Given the description of an element on the screen output the (x, y) to click on. 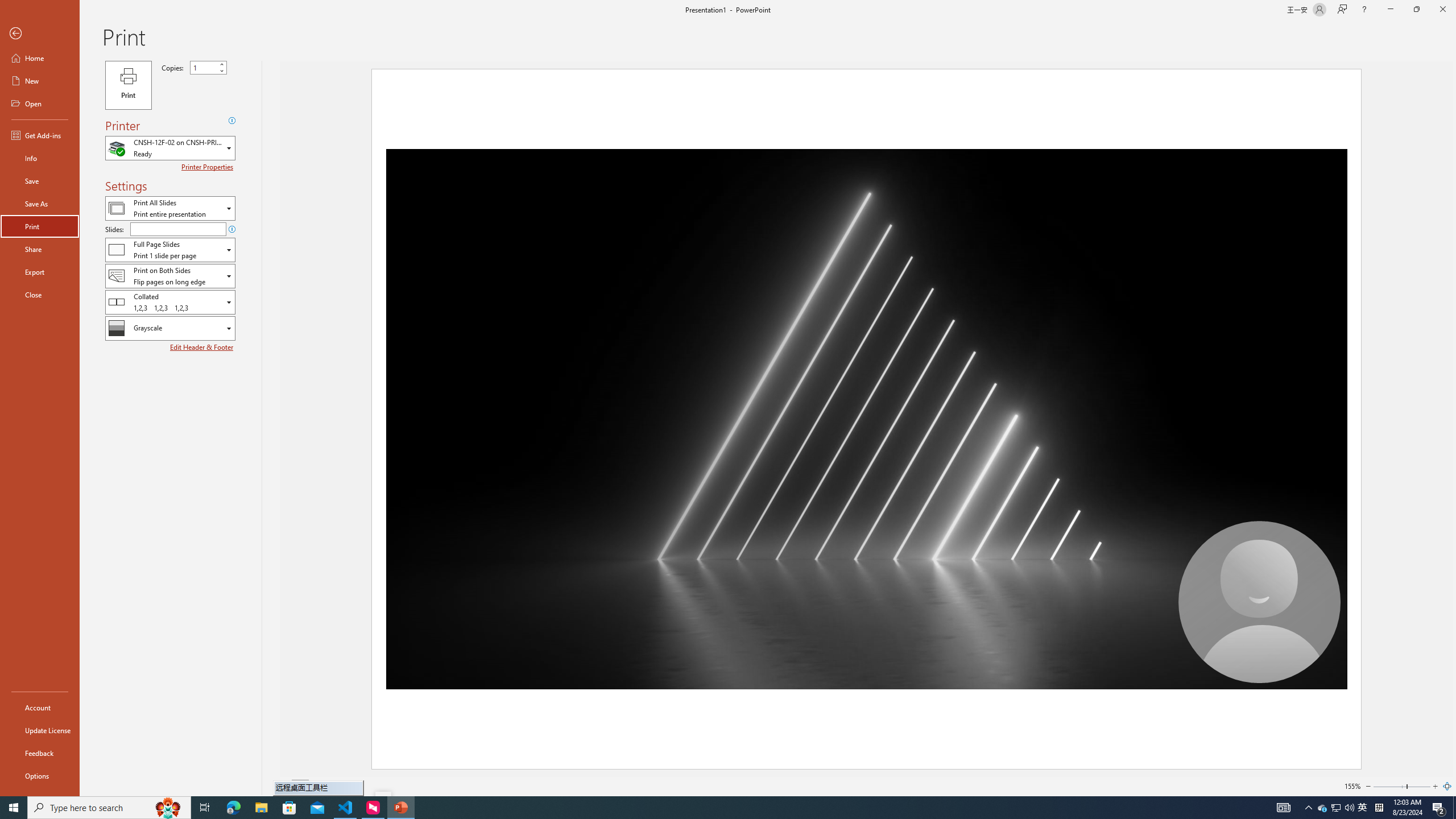
Home (40, 57)
Color/Grayscale (169, 328)
Page left (1389, 786)
Printer Properties (208, 166)
Close (40, 294)
Zoom In (1434, 786)
Two-Sided Printing (169, 275)
Open (229, 327)
Feedback (40, 753)
Copies (208, 67)
Print What (169, 208)
New (40, 80)
Slides and Handouts (169, 249)
Slides (178, 228)
Export (40, 271)
